Given the description of an element on the screen output the (x, y) to click on. 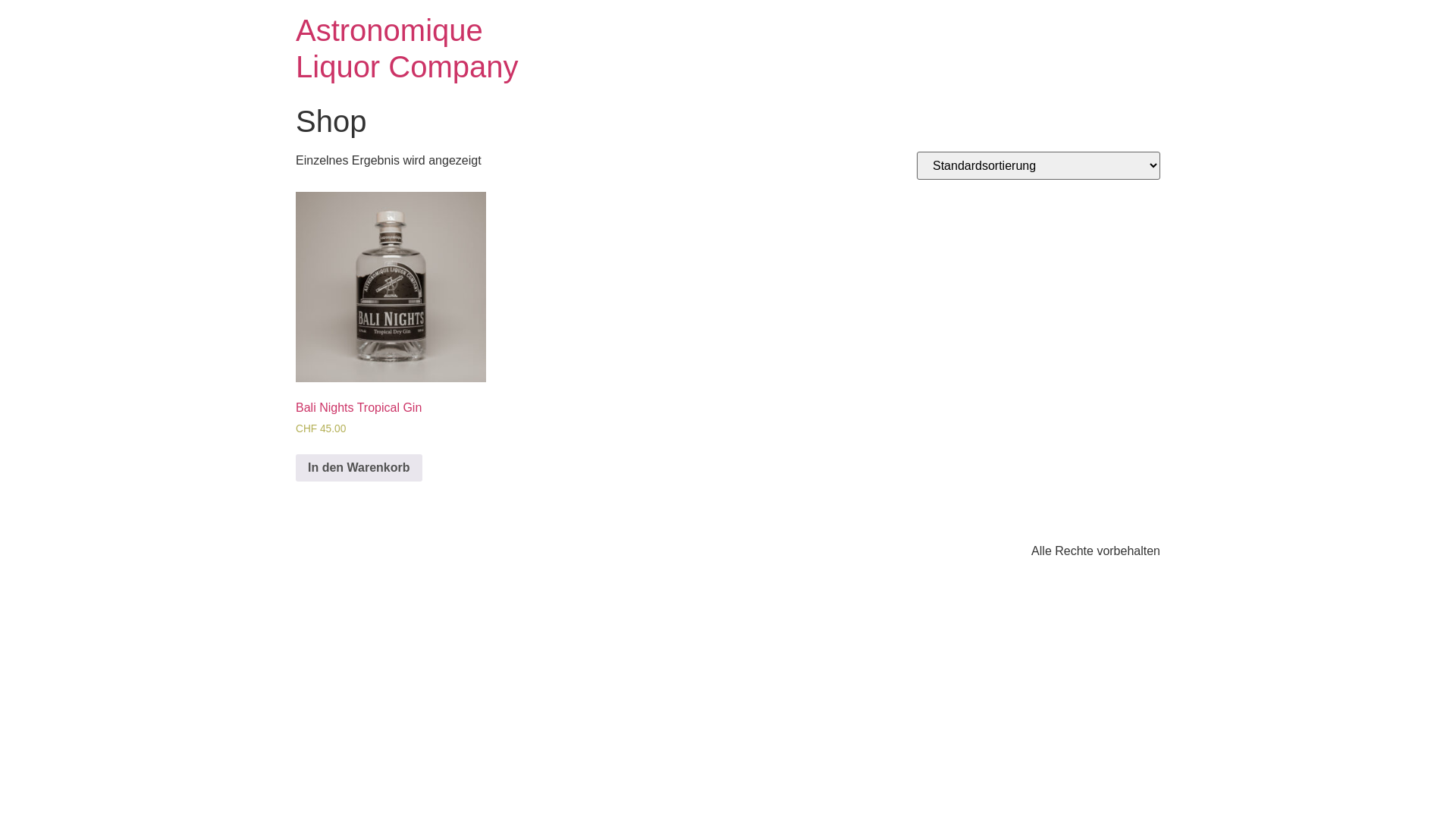
Astronomique Liquor Company Element type: text (406, 48)
In den Warenkorb Element type: text (358, 467)
Bali Nights Tropical Gin
CHF 45.00 Element type: text (390, 332)
